Given the description of an element on the screen output the (x, y) to click on. 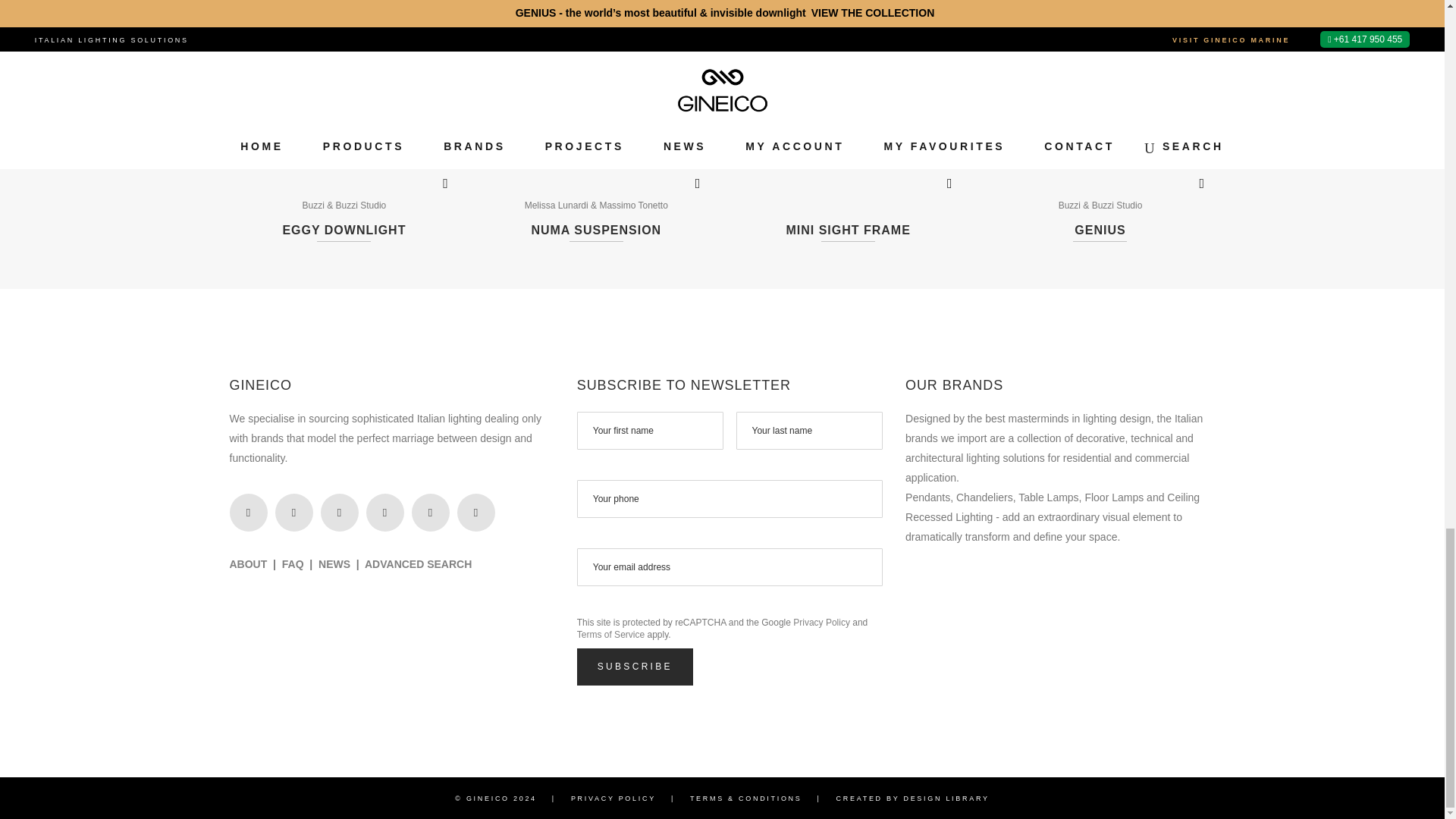
SUBSCRIBE (634, 666)
